Given the description of an element on the screen output the (x, y) to click on. 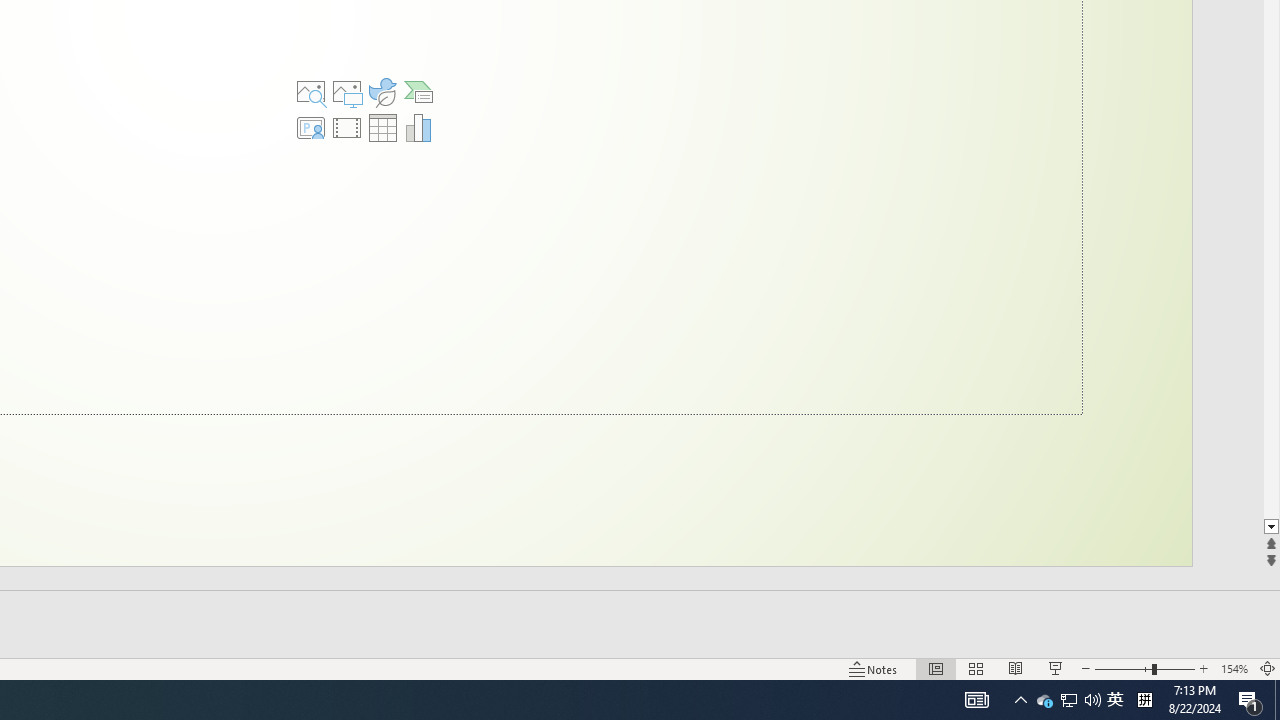
Insert an Icon (383, 92)
